Given the description of an element on the screen output the (x, y) to click on. 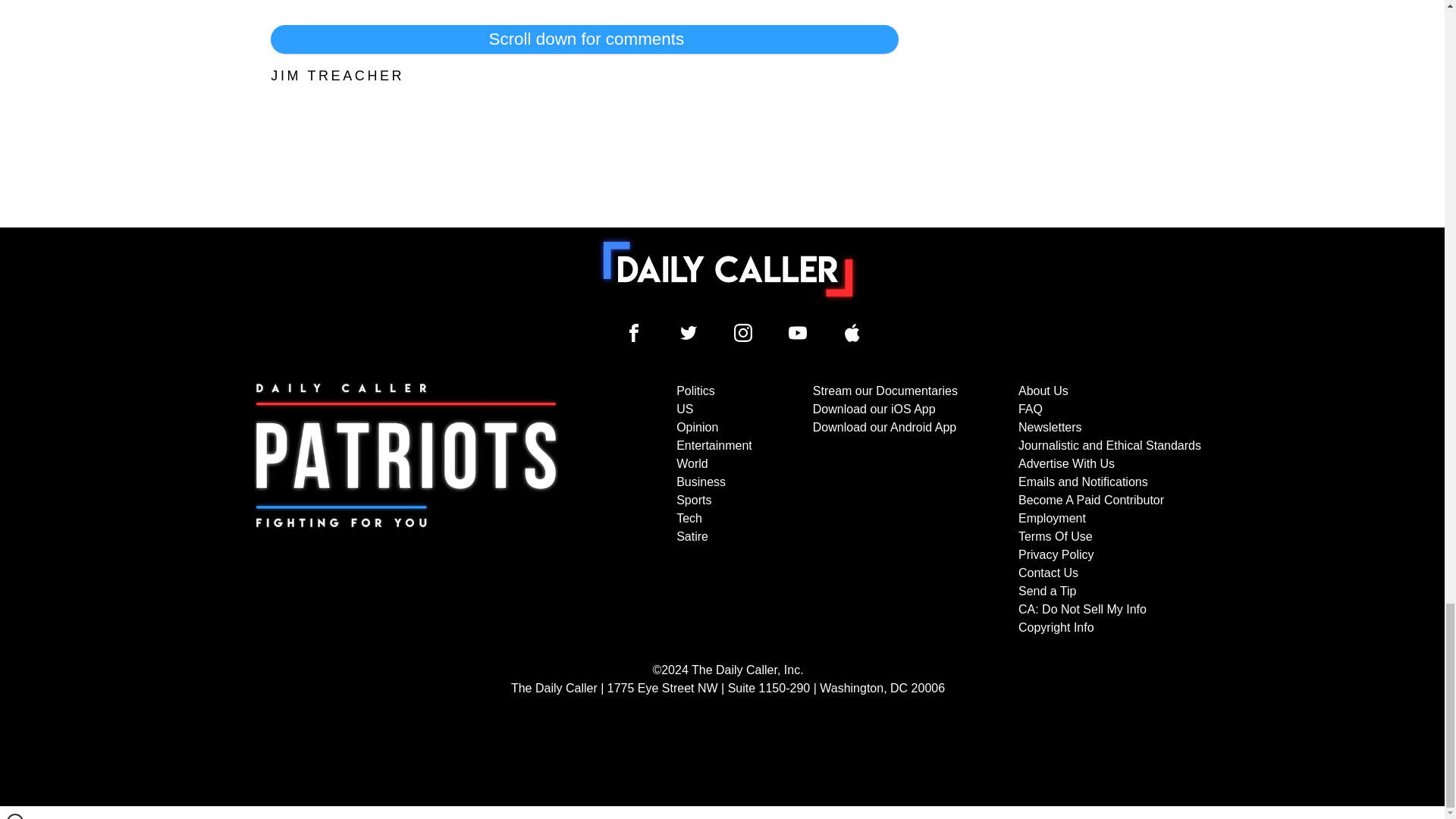
Scroll down for comments (584, 39)
Daily Caller Instagram (742, 332)
Subscribe to The Daily Caller (405, 509)
Daily Caller YouTube (797, 332)
To home page (727, 268)
Daily Caller Facebook (633, 332)
Daily Caller Twitter (688, 332)
Daily Caller YouTube (852, 332)
